Given the description of an element on the screen output the (x, y) to click on. 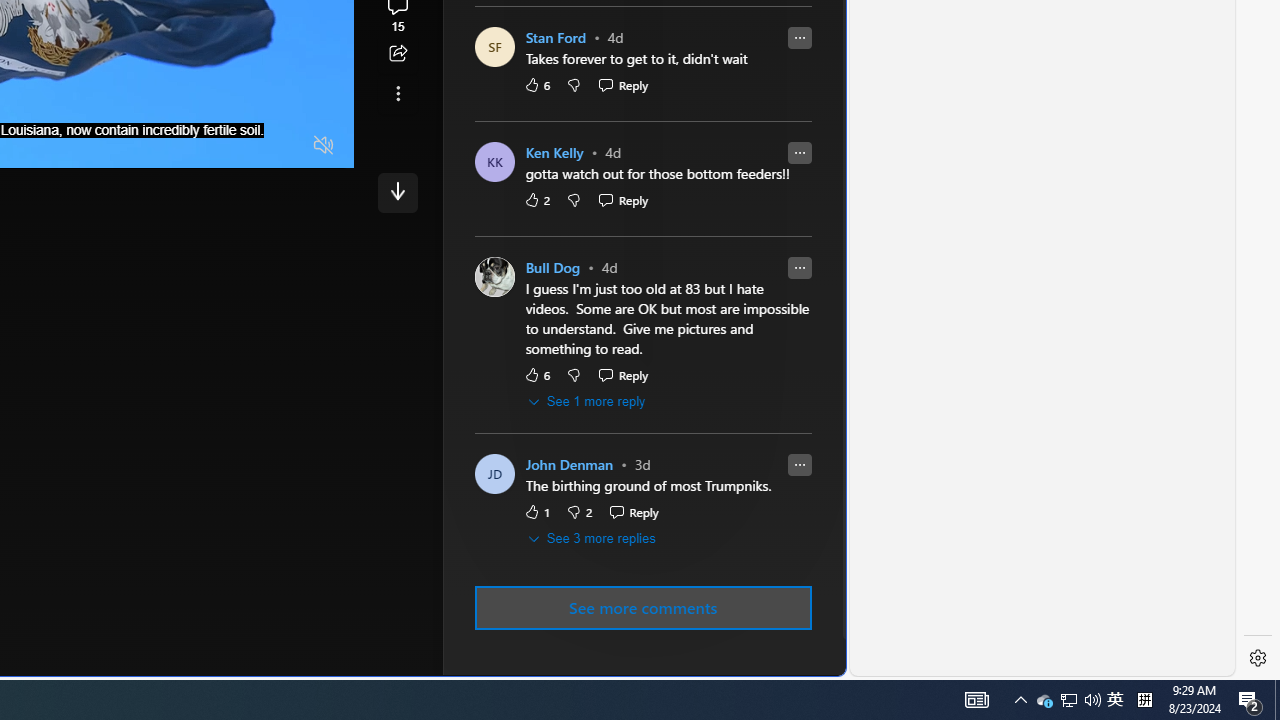
Profile Picture (493, 474)
Profile Picture (493, 277)
6 Like (536, 375)
1 Like (536, 511)
AutomationID: e5rZOEMGacU1 (397, 192)
ABC News (545, 12)
Quality Settings (205, 146)
John Denman (569, 465)
